Given the description of an element on the screen output the (x, y) to click on. 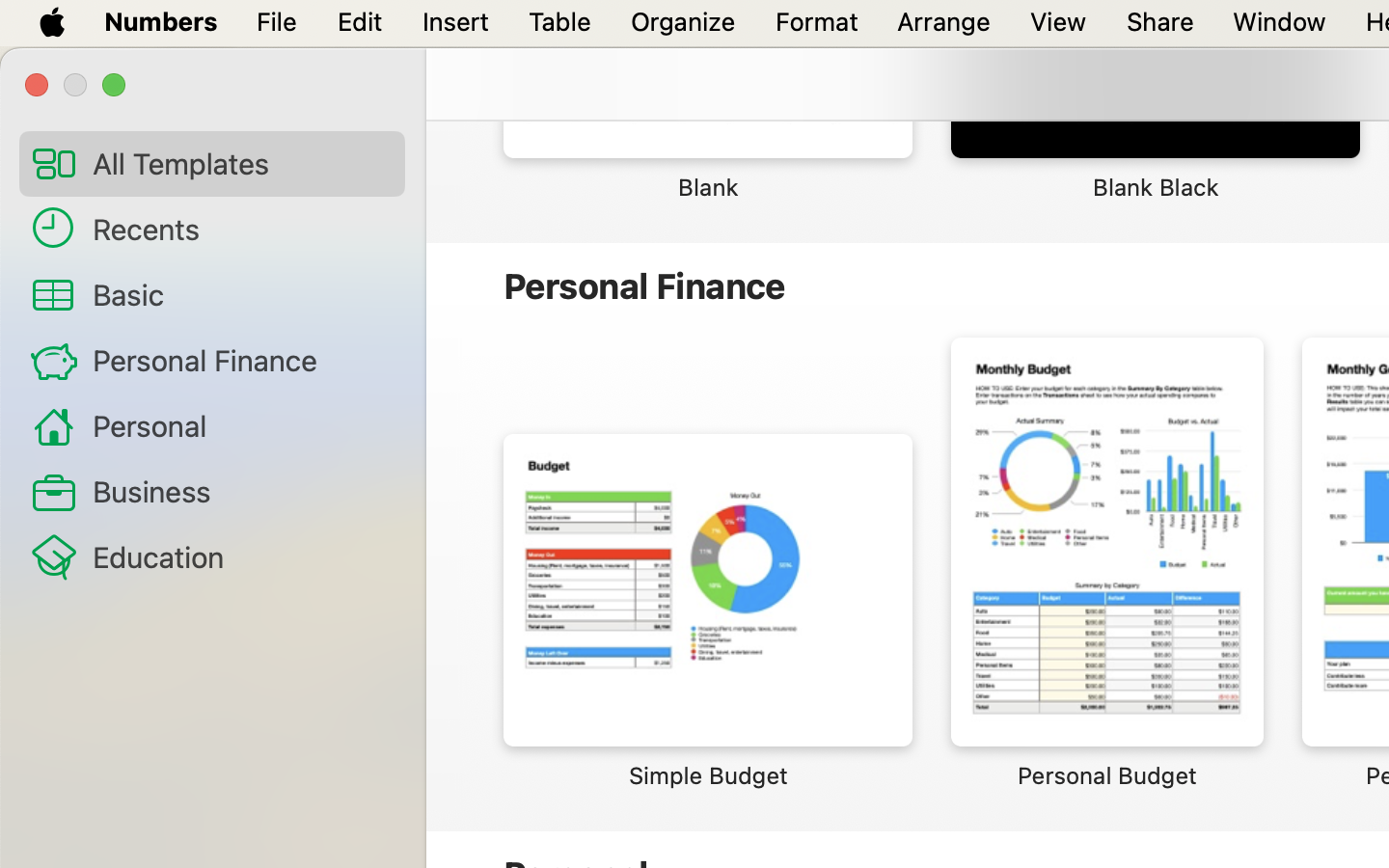
Basic Element type: AXStaticText (240, 293)
All Templates Element type: AXStaticText (240, 162)
Personal Finance Element type: AXStaticText (240, 359)
Recents Element type: AXStaticText (240, 228)
Personal Element type: AXStaticText (240, 424)
